Given the description of an element on the screen output the (x, y) to click on. 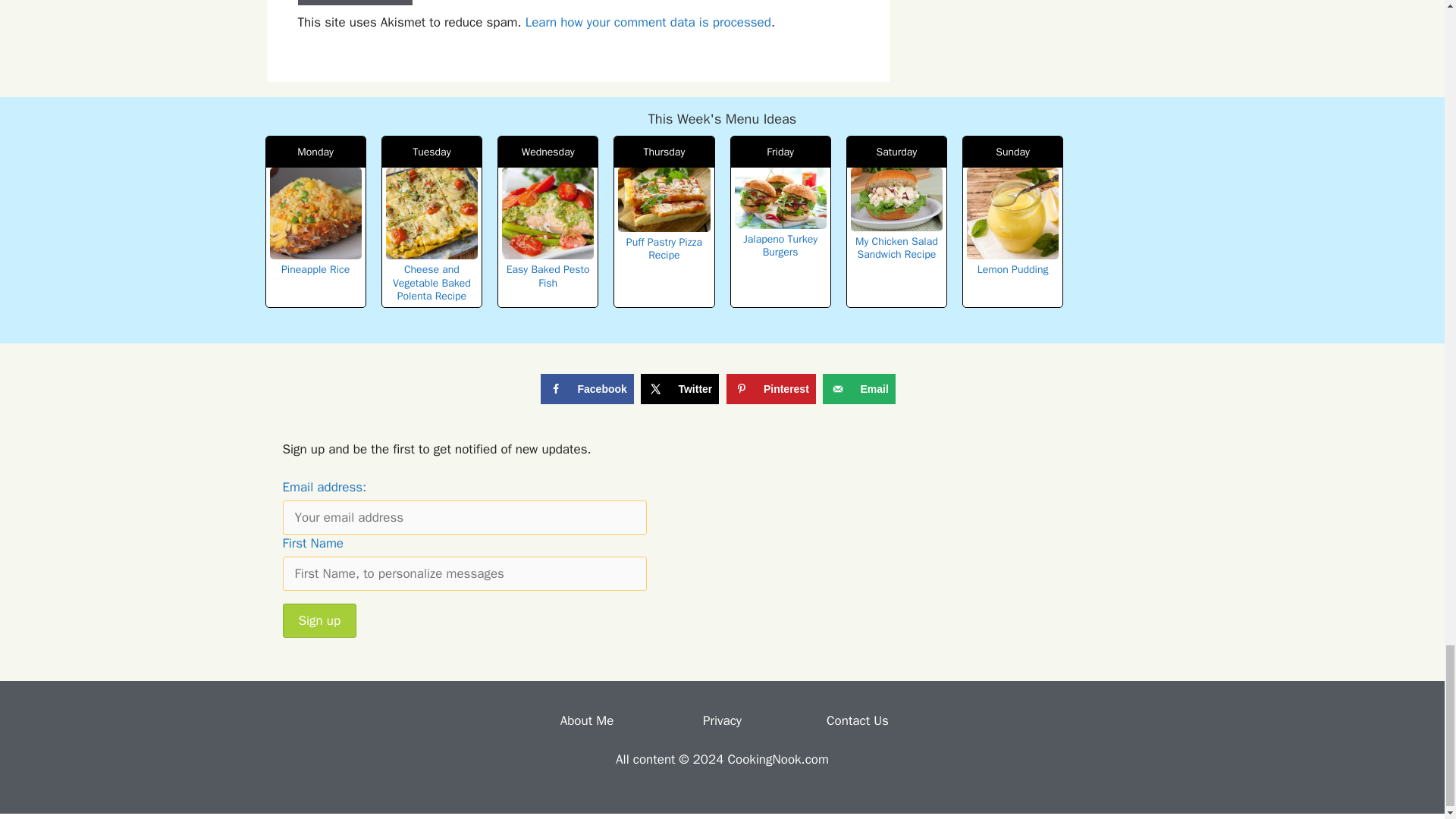
Post Comment (354, 2)
Sign up (319, 620)
